Given the description of an element on the screen output the (x, y) to click on. 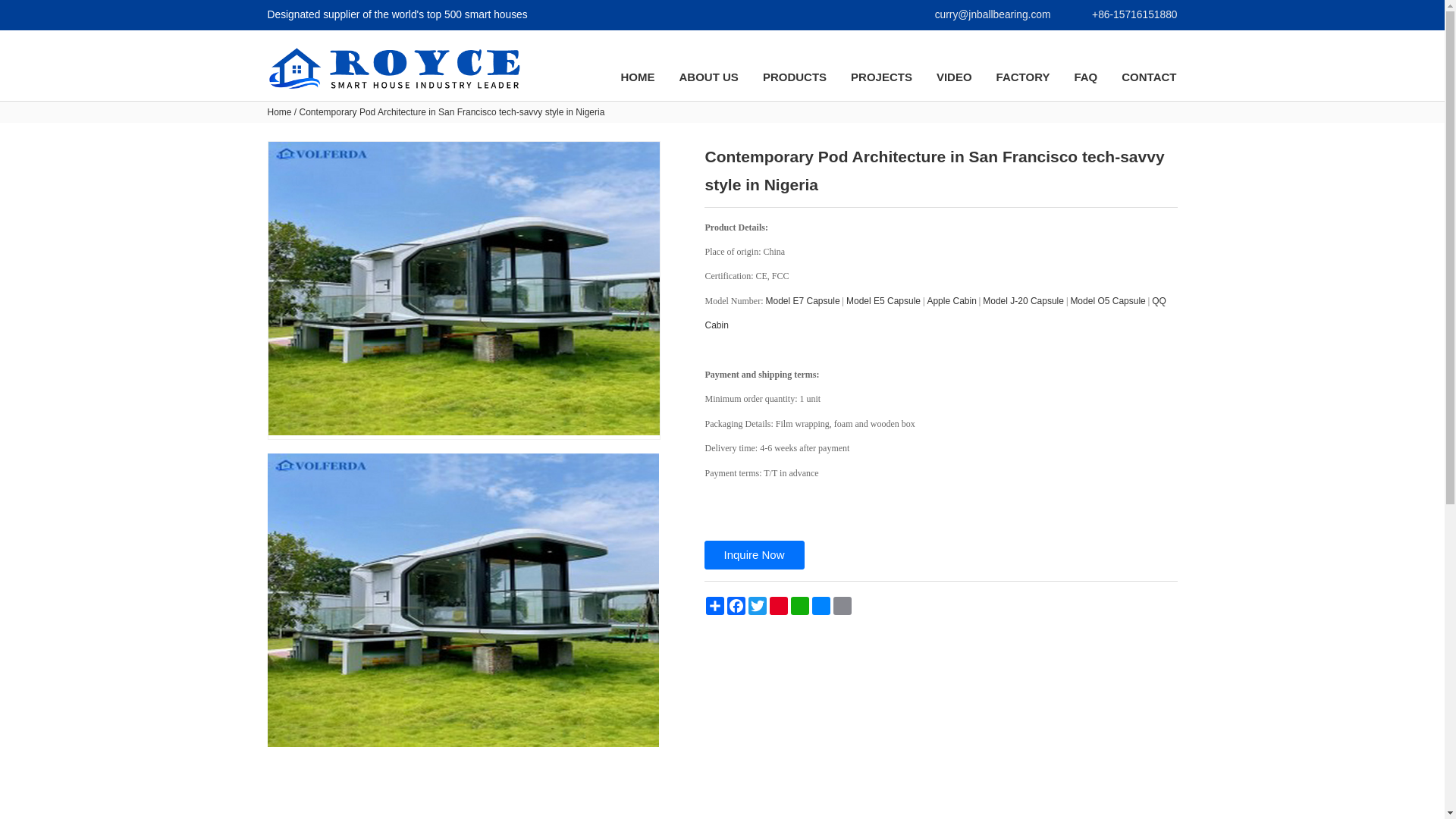
PROJECTS (881, 76)
WhatsApp (799, 606)
CONTACT (1148, 76)
Share (714, 606)
Inquire Now (753, 554)
PRODUCTS (794, 76)
Apple Cabin (950, 300)
Model E7 Capsule (802, 300)
Model O5 Capsule (1107, 300)
Email (841, 606)
Pinterest (778, 606)
Facebook (735, 606)
Model E5 Capsule (882, 300)
Model J-20 Capsule (1023, 300)
Home (278, 111)
